Given the description of an element on the screen output the (x, y) to click on. 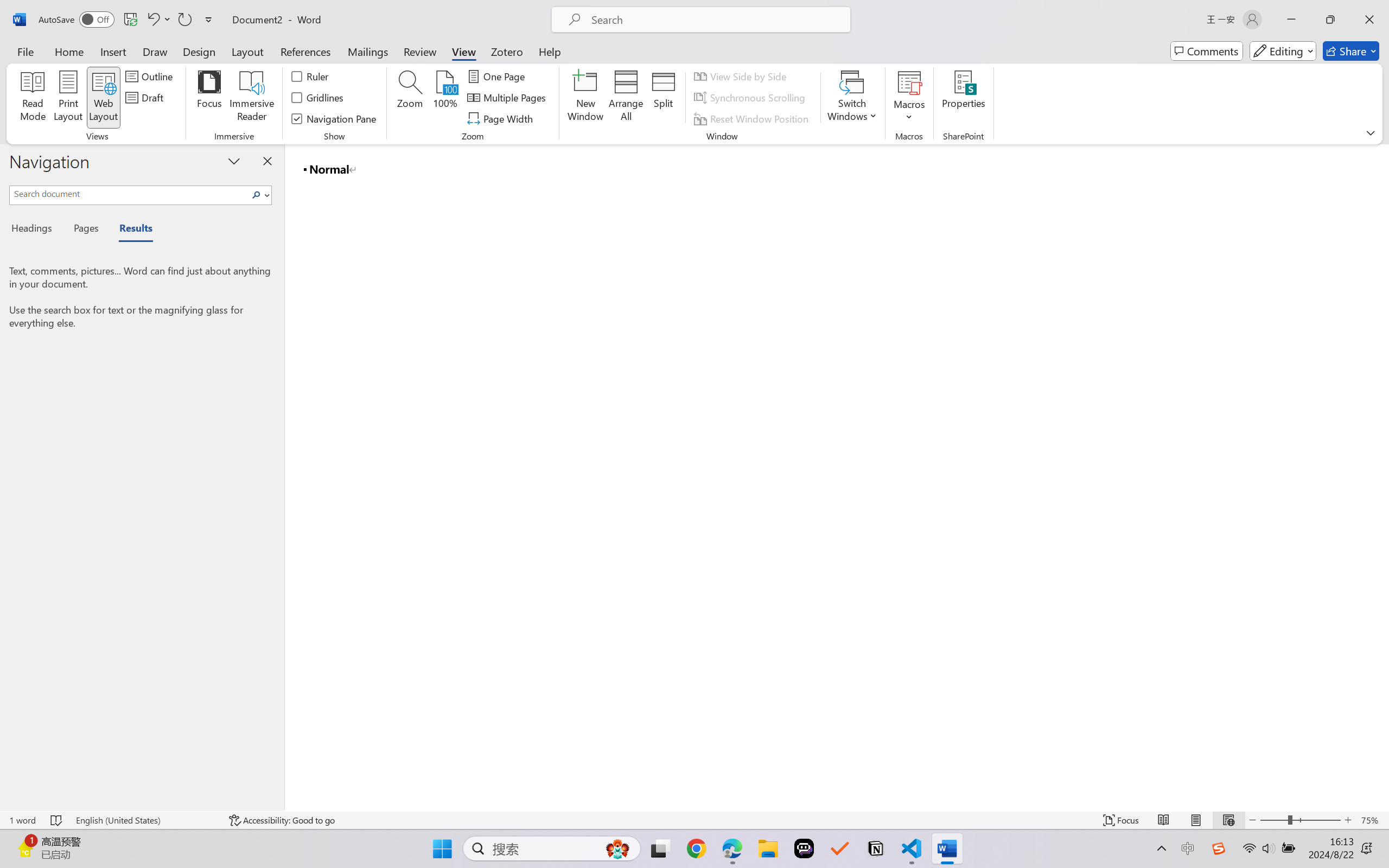
Focus (209, 97)
Search (256, 194)
Split (663, 97)
Insert (112, 51)
100% (445, 97)
Repeat Doc Close (184, 19)
Page Width (501, 118)
Navigation Pane (334, 118)
Search document (128, 193)
Search (259, 194)
Pages (85, 229)
Draw (155, 51)
Properties (963, 97)
Class: MsoCommandBar (694, 819)
